Given the description of an element on the screen output the (x, y) to click on. 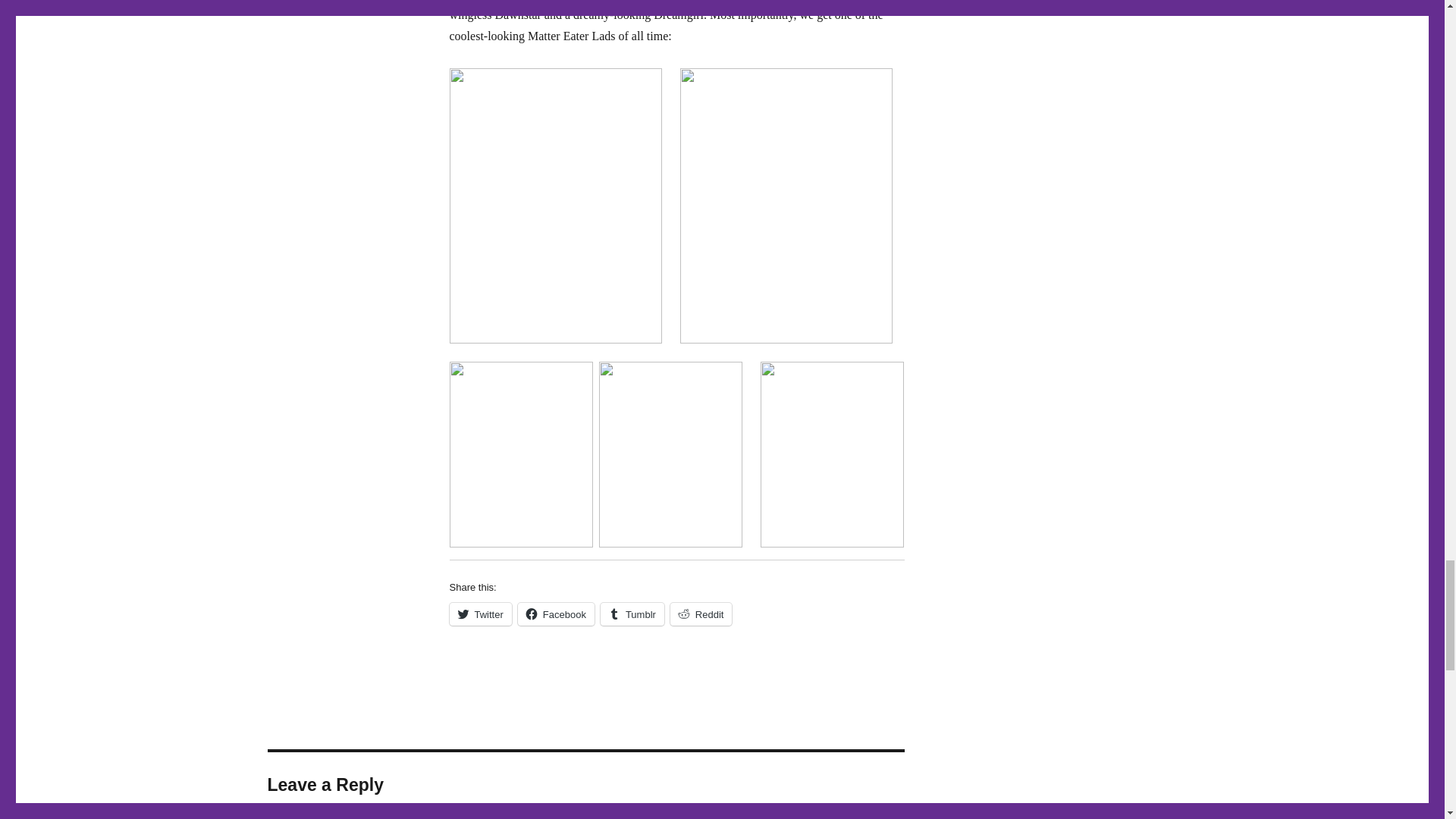
Click to share on Reddit (700, 613)
Click to share on Twitter (479, 613)
Click to share on Facebook (556, 613)
Facebook (556, 613)
Reddit (700, 613)
Tumblr (631, 613)
Click to share on Tumblr (631, 613)
Twitter (479, 613)
